Given the description of an element on the screen output the (x, y) to click on. 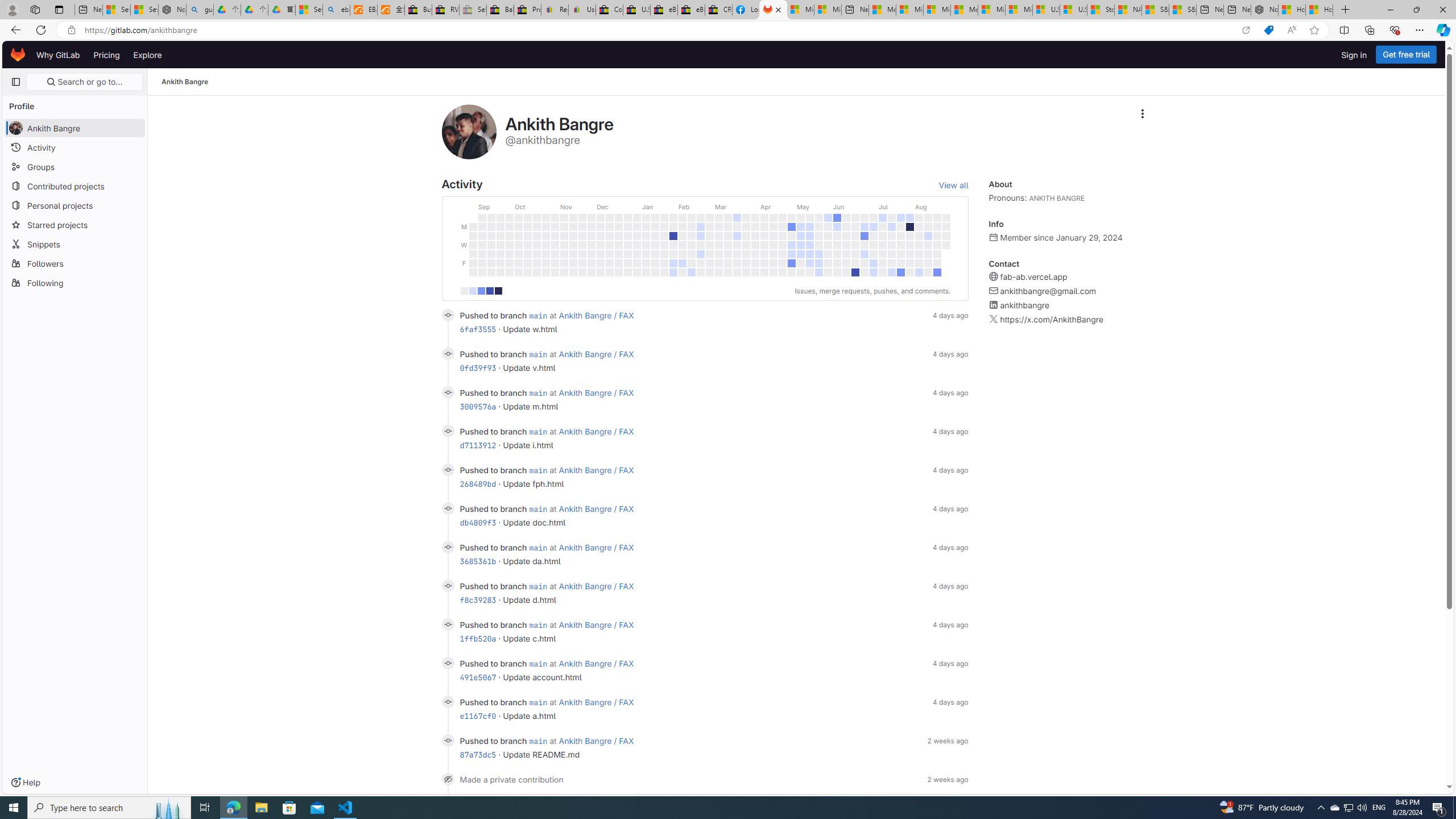
Groups (74, 166)
Shopping in Microsoft Edge (1268, 29)
Sign in (1353, 54)
Primary navigation sidebar (15, 81)
